Given the description of an element on the screen output the (x, y) to click on. 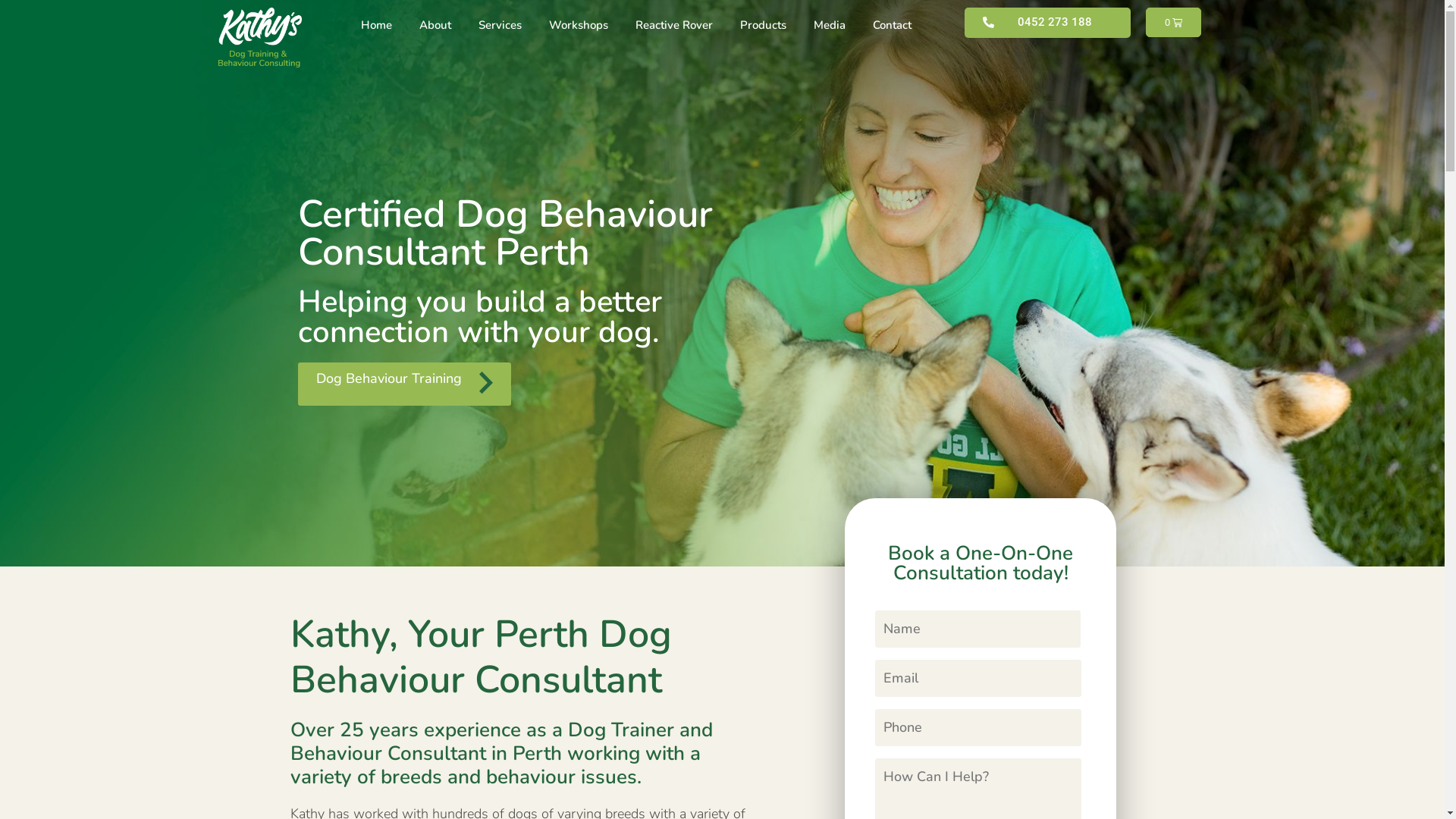
Home Element type: text (376, 24)
0 Element type: text (1173, 22)
Media Element type: text (829, 24)
Workshops Element type: text (578, 24)
Reactive Rover Element type: text (673, 24)
Dog Behaviour Training Element type: text (403, 383)
About Element type: text (434, 24)
Products Element type: text (763, 24)
Contact Element type: text (892, 24)
0452 273 188 Element type: text (1047, 22)
Services Element type: text (499, 24)
